Given the description of an element on the screen output the (x, y) to click on. 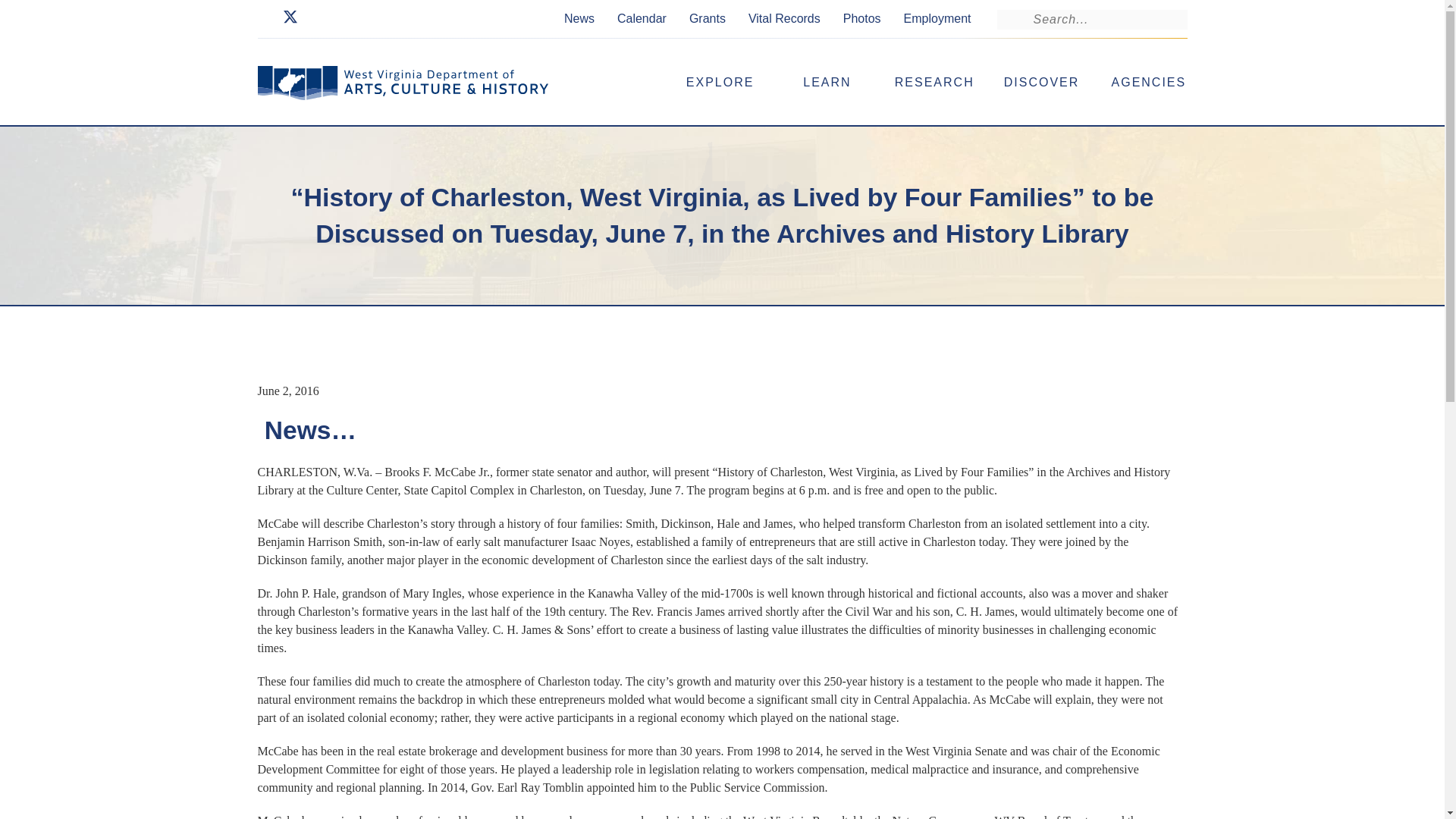
Photos (861, 18)
Submit (24, 9)
News (579, 18)
Vital Records (783, 18)
DISCOVER (1041, 82)
Grants (707, 18)
Employment (937, 18)
Calendar (641, 18)
Link to our Twitter page (290, 19)
EXPLORE (719, 82)
LEARN (826, 82)
AGENCIES (1148, 82)
RESEARCH (934, 82)
